Given the description of an element on the screen output the (x, y) to click on. 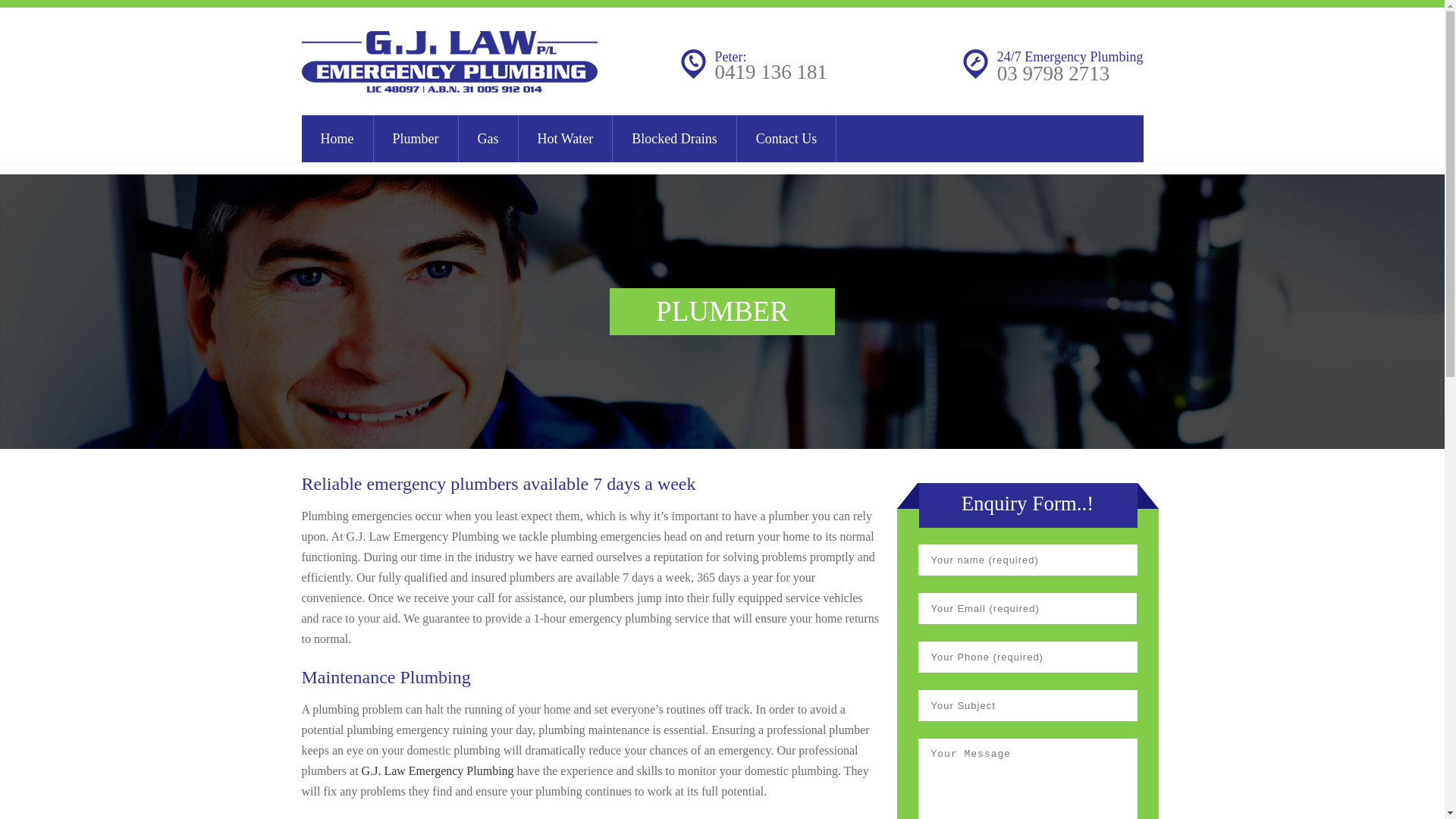
Blocked Drains Element type: text (674, 138)
Home Element type: text (337, 138)
Plumber Element type: text (415, 138)
Contact Us Element type: text (787, 138)
Hot Water Element type: text (565, 138)
0419 136 181 Element type: text (770, 71)
G J Law Plumbing Melbourne Element type: hover (449, 60)
03 9798 2713 Element type: text (1053, 73)
Gas Element type: text (487, 138)
G.J. Law Emergency Plumbing Element type: text (437, 770)
